Given the description of an element on the screen output the (x, y) to click on. 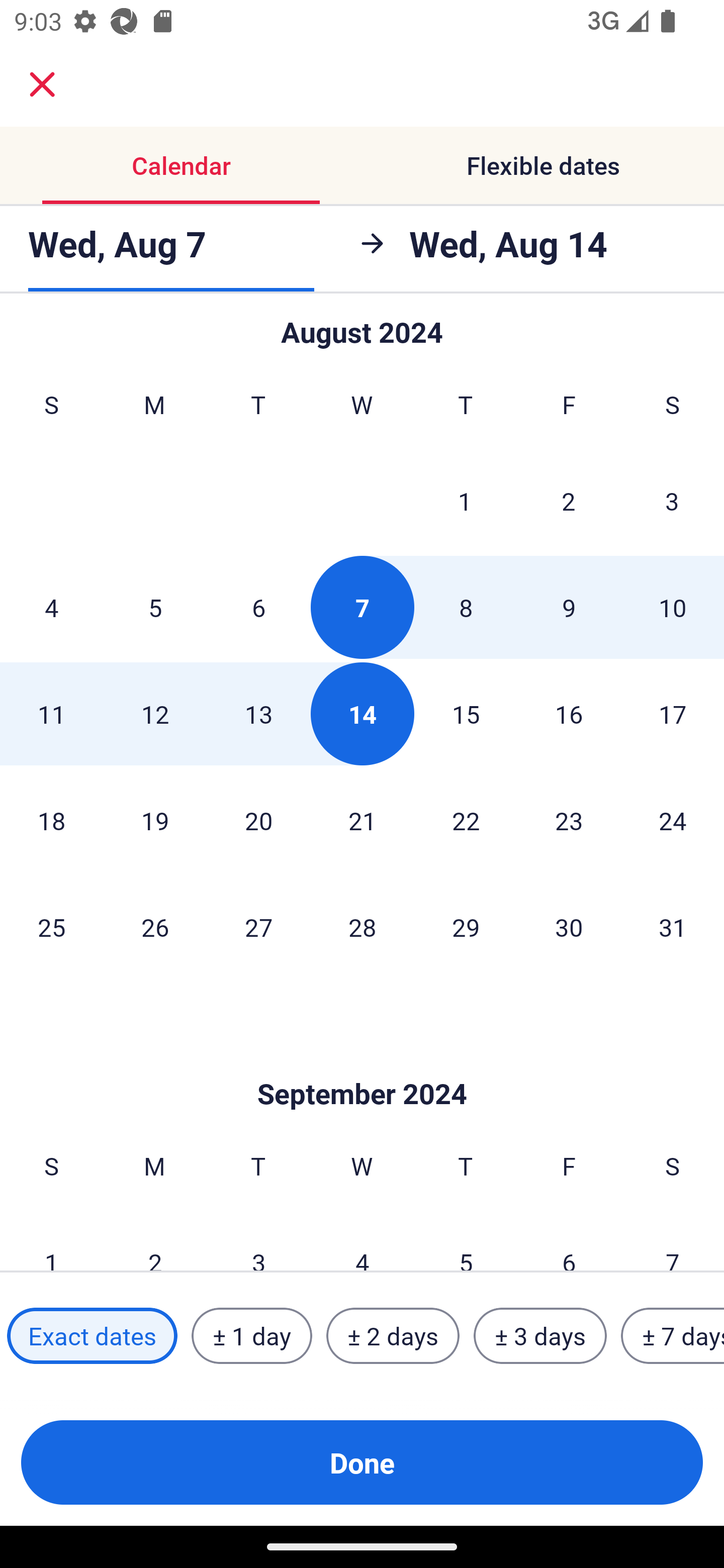
close. (42, 84)
Flexible dates (542, 164)
1 Thursday, August 1, 2024 (464, 500)
2 Friday, August 2, 2024 (568, 500)
3 Saturday, August 3, 2024 (672, 500)
4 Sunday, August 4, 2024 (51, 606)
5 Monday, August 5, 2024 (155, 606)
6 Tuesday, August 6, 2024 (258, 606)
15 Thursday, August 15, 2024 (465, 713)
16 Friday, August 16, 2024 (569, 713)
17 Saturday, August 17, 2024 (672, 713)
18 Sunday, August 18, 2024 (51, 819)
19 Monday, August 19, 2024 (155, 819)
20 Tuesday, August 20, 2024 (258, 819)
21 Wednesday, August 21, 2024 (362, 819)
22 Thursday, August 22, 2024 (465, 819)
23 Friday, August 23, 2024 (569, 819)
24 Saturday, August 24, 2024 (672, 819)
25 Sunday, August 25, 2024 (51, 926)
26 Monday, August 26, 2024 (155, 926)
27 Tuesday, August 27, 2024 (258, 926)
28 Wednesday, August 28, 2024 (362, 926)
29 Thursday, August 29, 2024 (465, 926)
30 Friday, August 30, 2024 (569, 926)
31 Saturday, August 31, 2024 (672, 926)
Skip to Done (362, 1063)
1 Sunday, September 1, 2024 (51, 1240)
2 Monday, September 2, 2024 (155, 1240)
3 Tuesday, September 3, 2024 (258, 1240)
4 Wednesday, September 4, 2024 (362, 1240)
5 Thursday, September 5, 2024 (465, 1240)
6 Friday, September 6, 2024 (569, 1240)
7 Saturday, September 7, 2024 (672, 1240)
Exact dates (92, 1335)
± 1 day (251, 1335)
± 2 days (392, 1335)
± 3 days (539, 1335)
± 7 days (672, 1335)
Done (361, 1462)
